Given the description of an element on the screen output the (x, y) to click on. 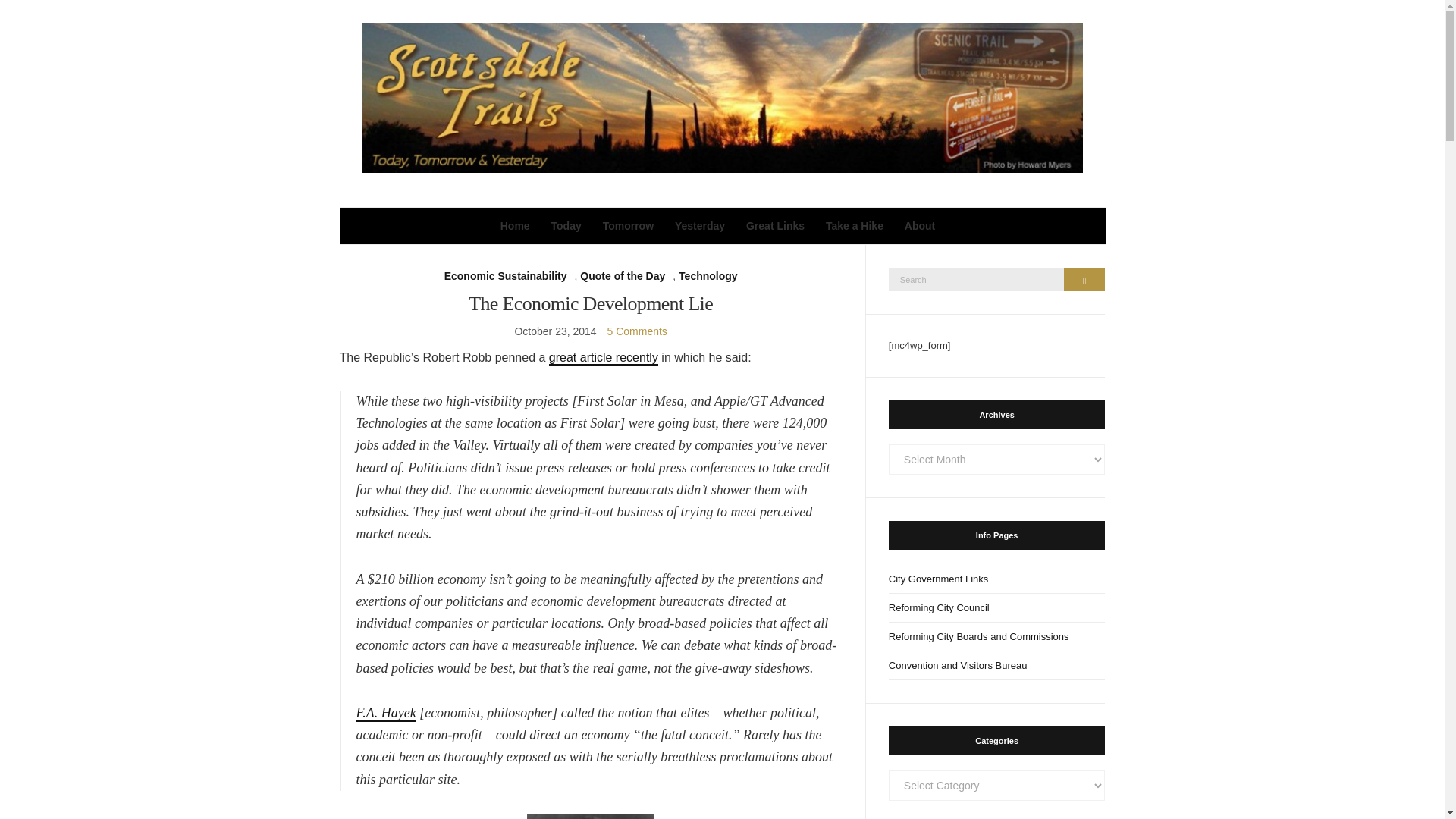
Great Links (775, 226)
Home (514, 226)
Tomorrow (627, 226)
F.A. Hayek (386, 713)
Take a Hike (854, 226)
great article recently (603, 358)
Quote of the Day (622, 276)
Economic Sustainability (505, 276)
Yesterday (700, 226)
About (919, 226)
5 Comments (636, 331)
Today (565, 226)
Technology (708, 276)
